Given the description of an element on the screen output the (x, y) to click on. 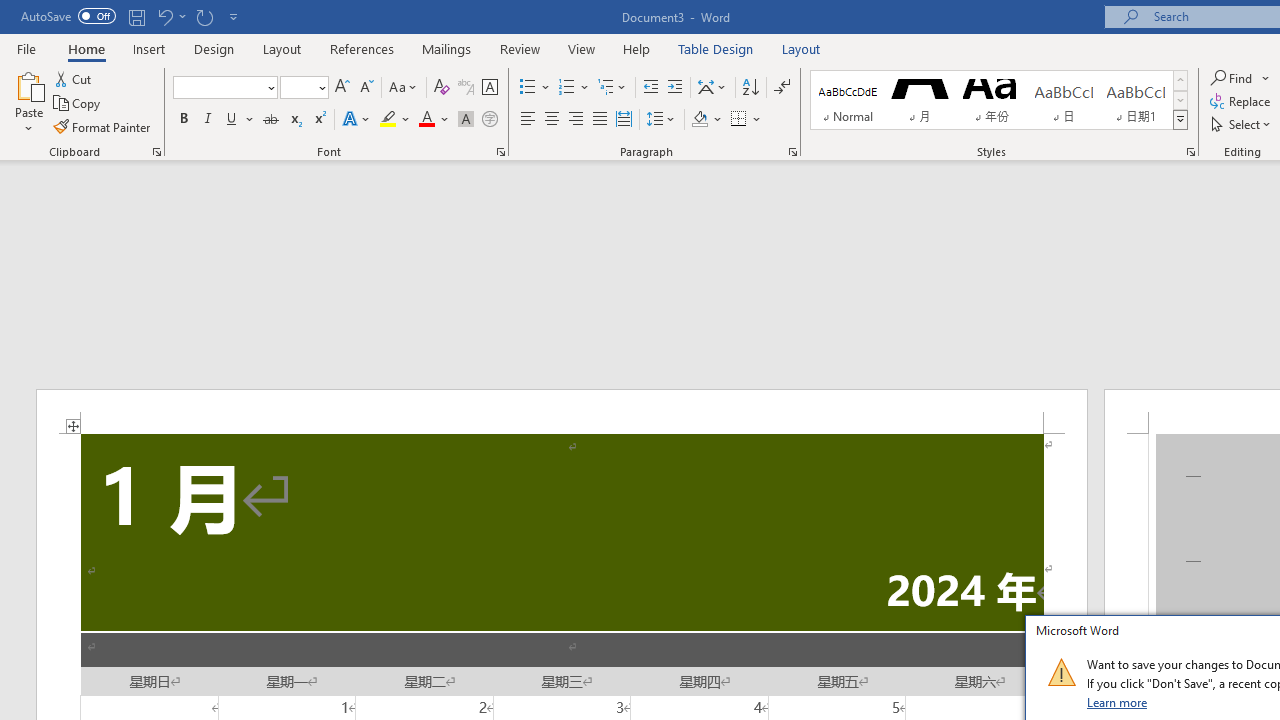
Underline (232, 119)
Paste (28, 84)
File Tab (26, 48)
Repeat Doc Close (204, 15)
Numbering (573, 87)
Italic (207, 119)
Shading (706, 119)
Select (1242, 124)
Bold (183, 119)
Undo Apply Quick Style (164, 15)
Shrink Font (365, 87)
